Given the description of an element on the screen output the (x, y) to click on. 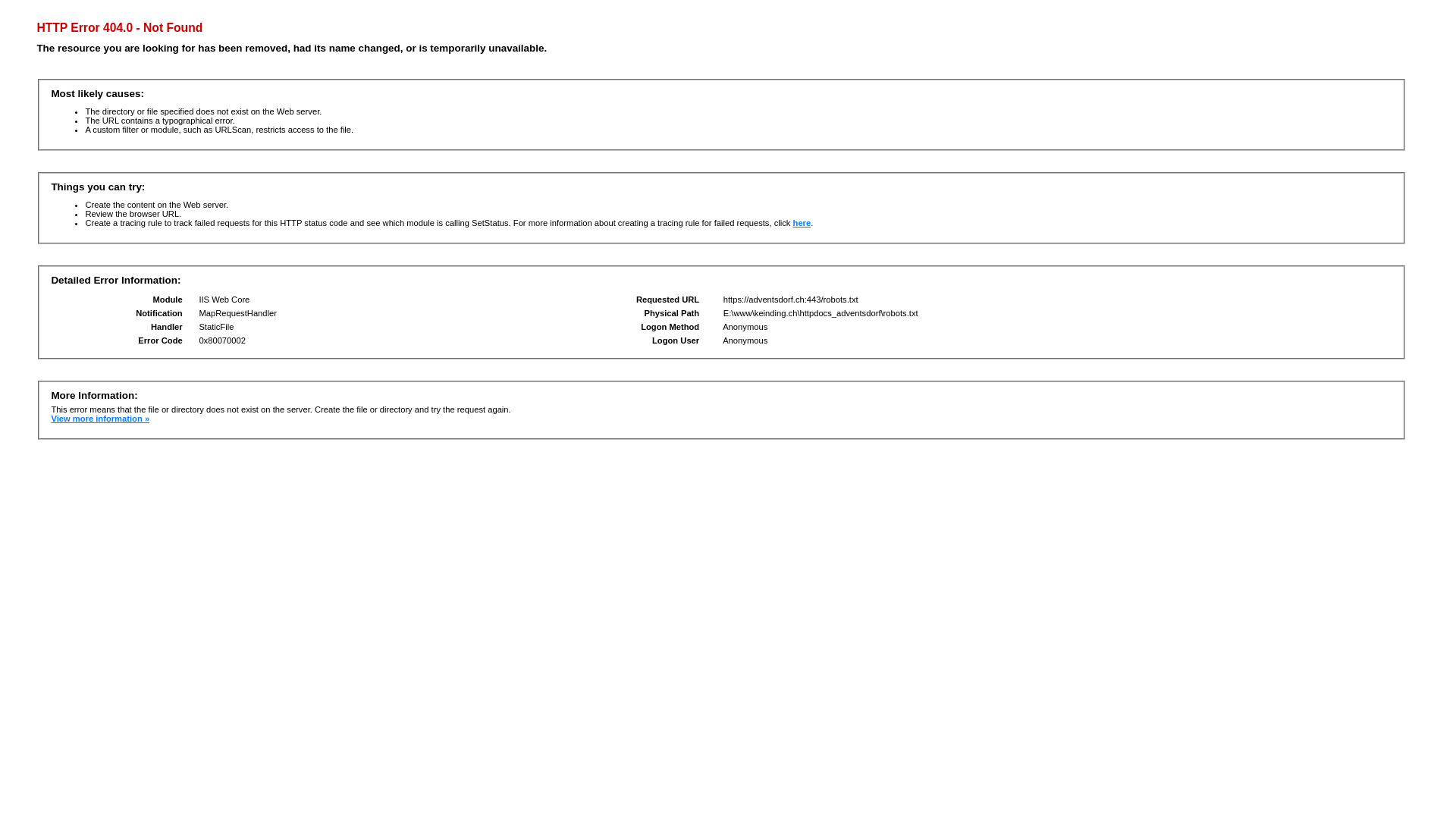
here Element type: text (802, 222)
